Given the description of an element on the screen output the (x, y) to click on. 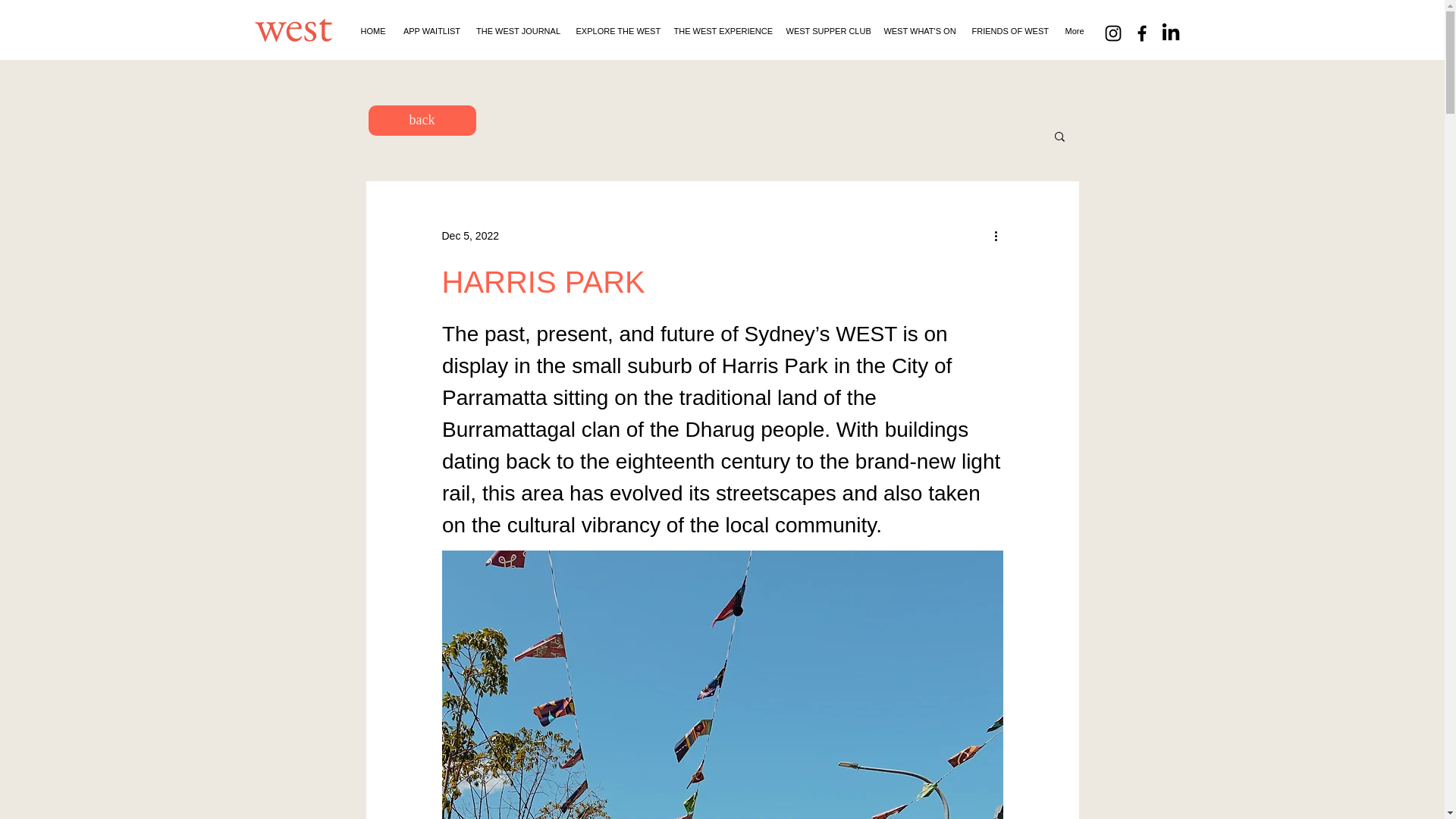
Dec 5, 2022 (470, 234)
WEST SUPPER CLUB (826, 30)
EXPLORE THE WEST (617, 30)
APP WAITLIST (432, 30)
WEST WHAT'S ON (919, 30)
THE WEST EXPERIENCE (721, 30)
THE WEST JOURNAL (518, 30)
back (422, 120)
FRIENDS OF WEST (1009, 30)
HOME (372, 30)
